Given the description of an element on the screen output the (x, y) to click on. 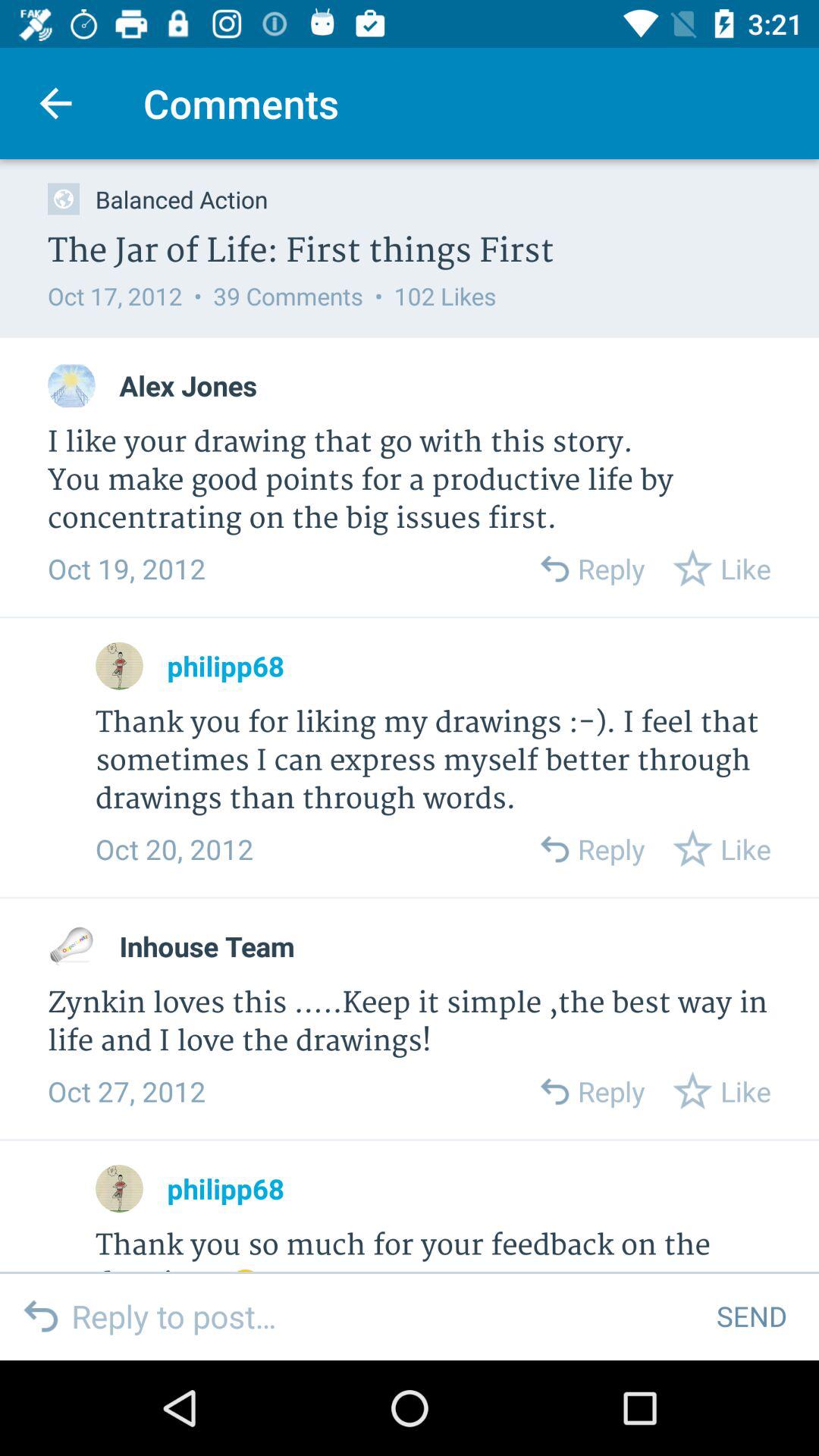
reply back (553, 568)
